Given the description of an element on the screen output the (x, y) to click on. 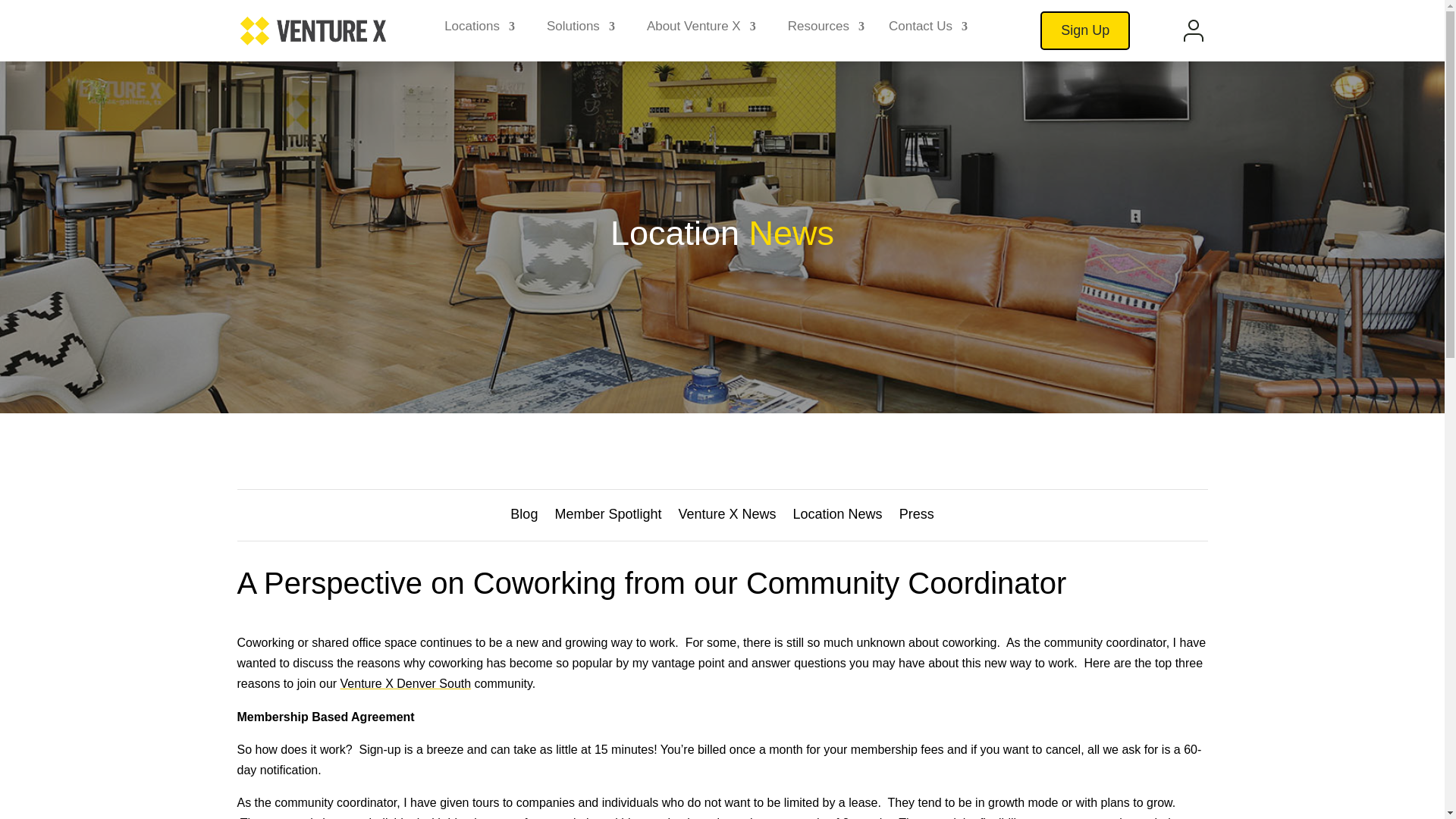
Locations (479, 30)
Solutions (580, 30)
icon-user-black (1193, 30)
Resources (825, 30)
About Venture X (700, 30)
Contact Us (928, 30)
vtx-logo-transparent (311, 30)
